Given the description of an element on the screen output the (x, y) to click on. 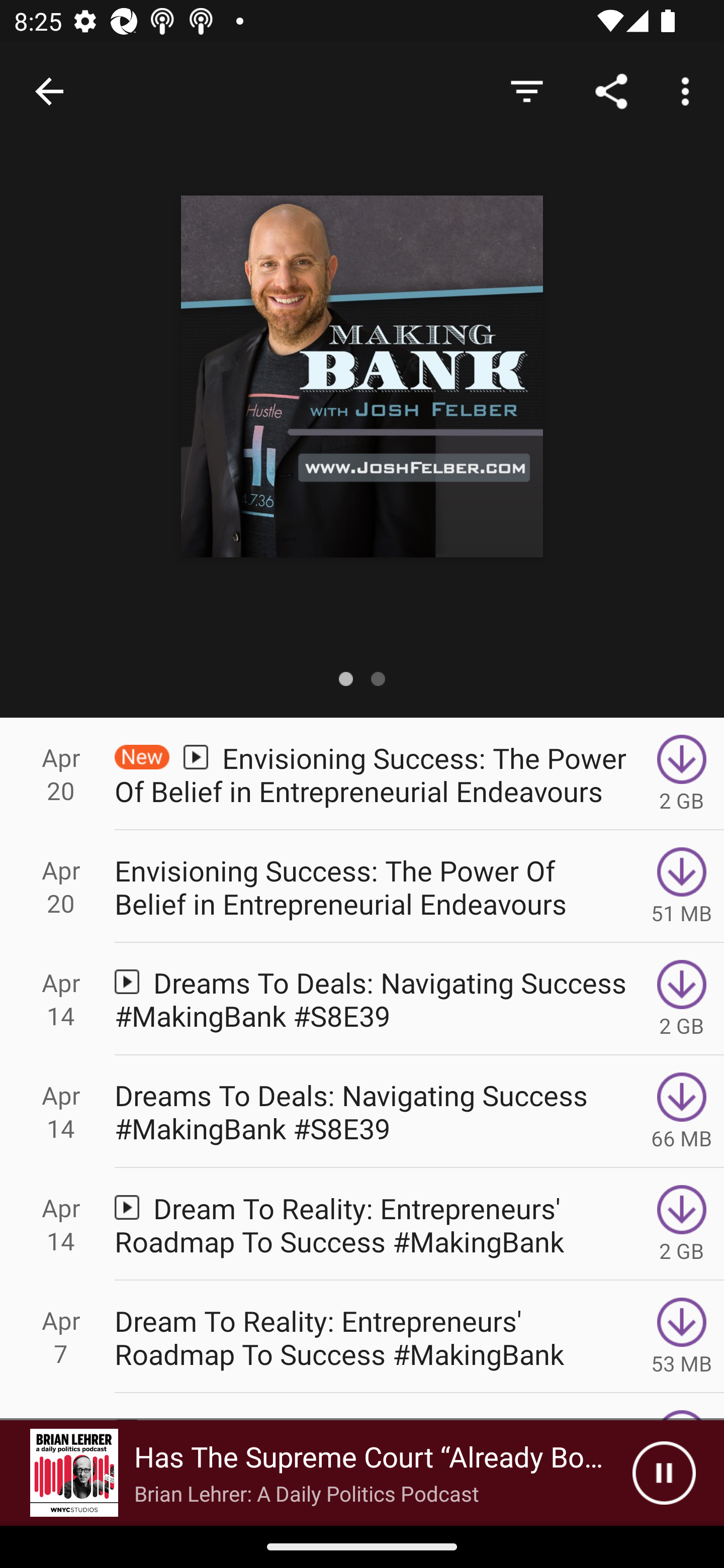
Navigate up (49, 91)
Hide Episodes (526, 90)
Share Link (611, 90)
More options (688, 90)
Download 2 GB (681, 773)
Download 51 MB (681, 885)
Download 2 GB (681, 998)
Download 66 MB (681, 1111)
Download 2 GB (681, 1224)
Download 53 MB (681, 1336)
Pause (663, 1472)
